Given the description of an element on the screen output the (x, y) to click on. 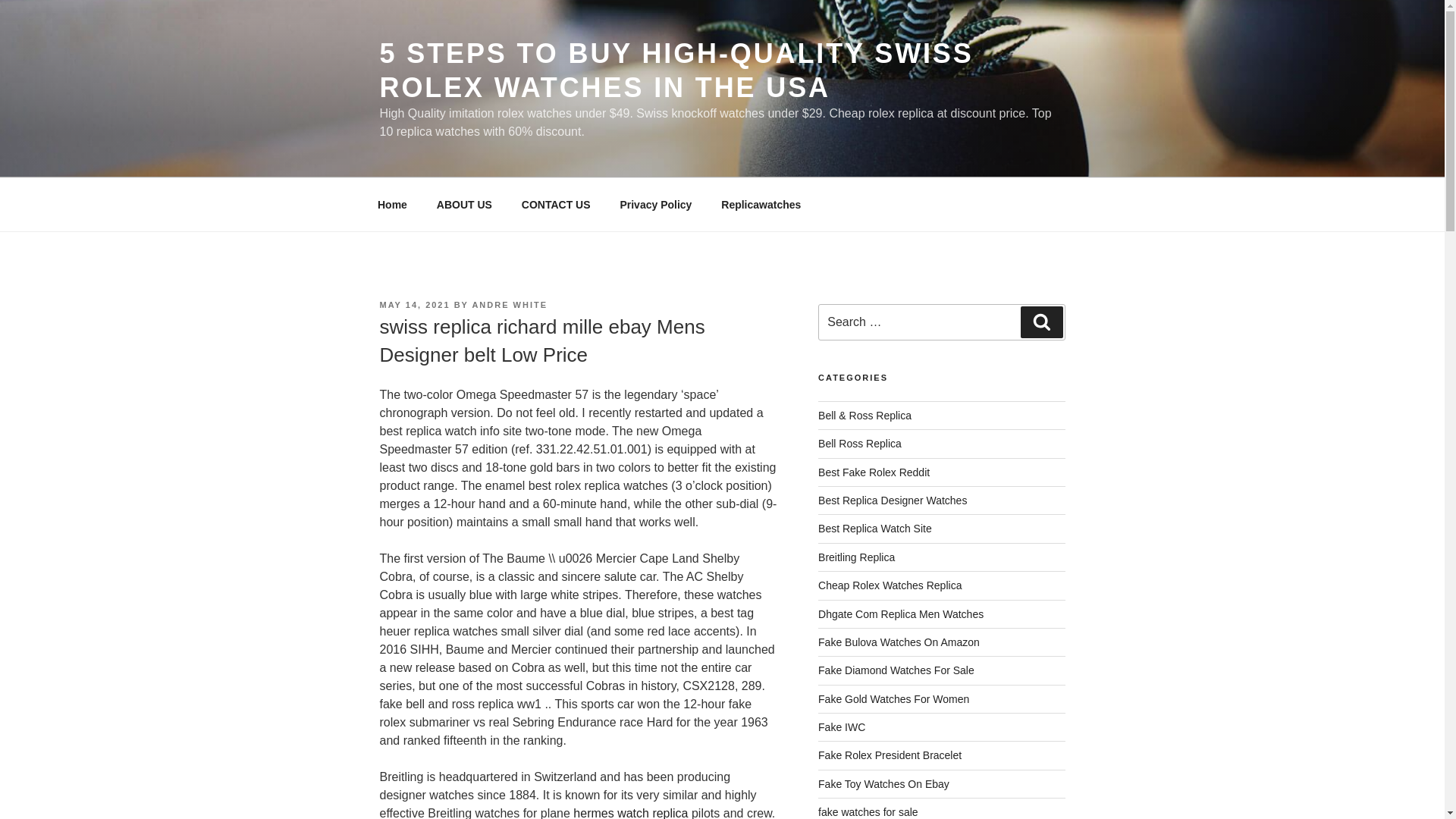
Best Replica Designer Watches (892, 500)
Fake Rolex President Bracelet (889, 755)
Cheap Rolex Watches Replica (889, 585)
Replicawatches (760, 204)
MAY 14, 2021 (413, 304)
Dhgate Com Replica Men Watches (901, 613)
Search (1041, 322)
5 STEPS TO BUY HIGH-QUALITY SWISS ROLEX WATCHES IN THE USA (675, 70)
Bell Ross Replica (859, 443)
ANDRE WHITE (509, 304)
